Given the description of an element on the screen output the (x, y) to click on. 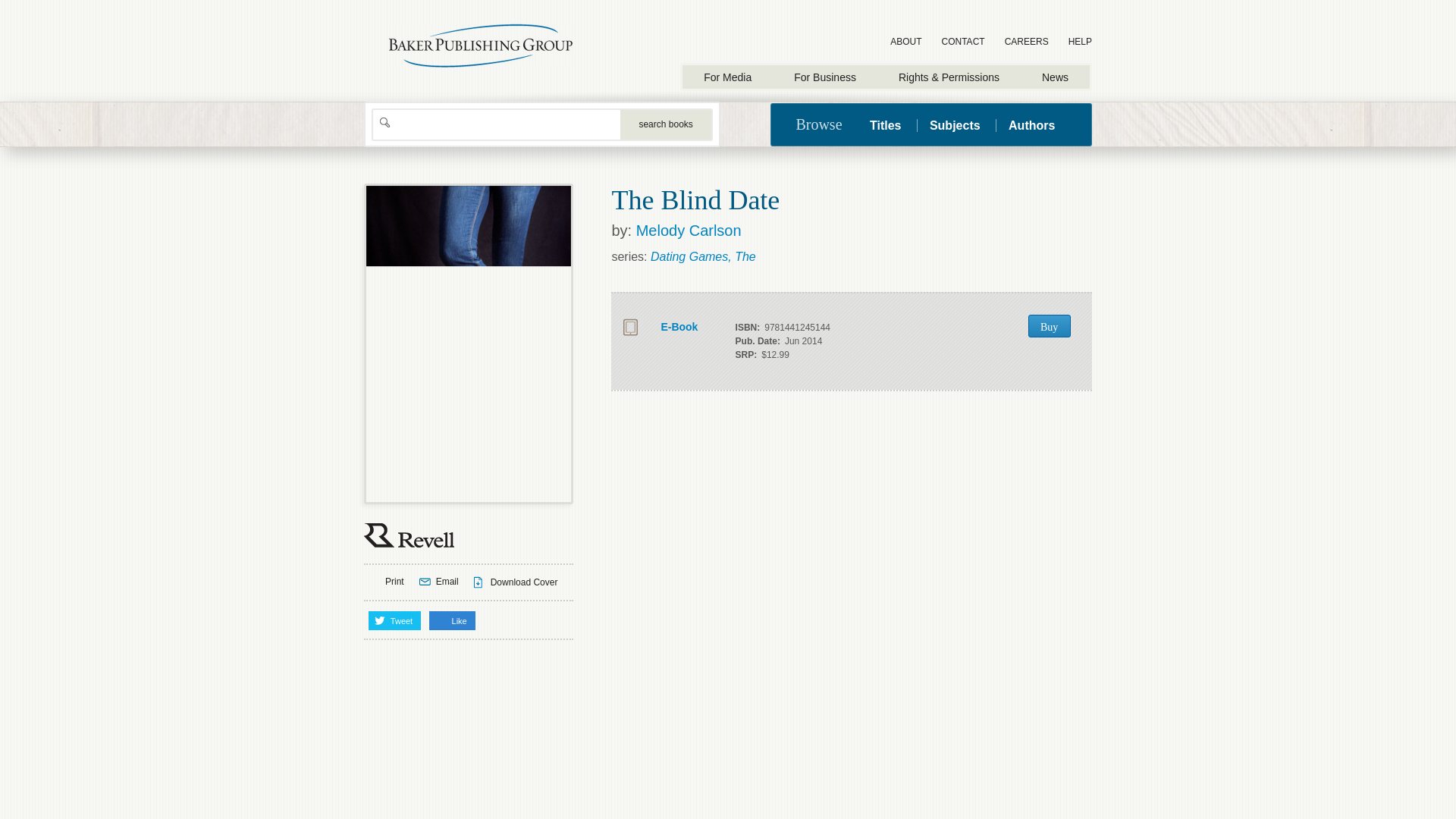
ABOUT (905, 41)
Baker Publishing Group (480, 45)
HELP (1080, 41)
E-Book (665, 327)
Buy (1048, 325)
News (1054, 76)
For Business (825, 76)
Titles (891, 124)
Dating Games, The (702, 256)
CAREERS (1026, 41)
Authors (1031, 124)
Email (438, 581)
Search Books (665, 124)
Melody Carlson (688, 230)
Download Cover (515, 582)
